Given the description of an element on the screen output the (x, y) to click on. 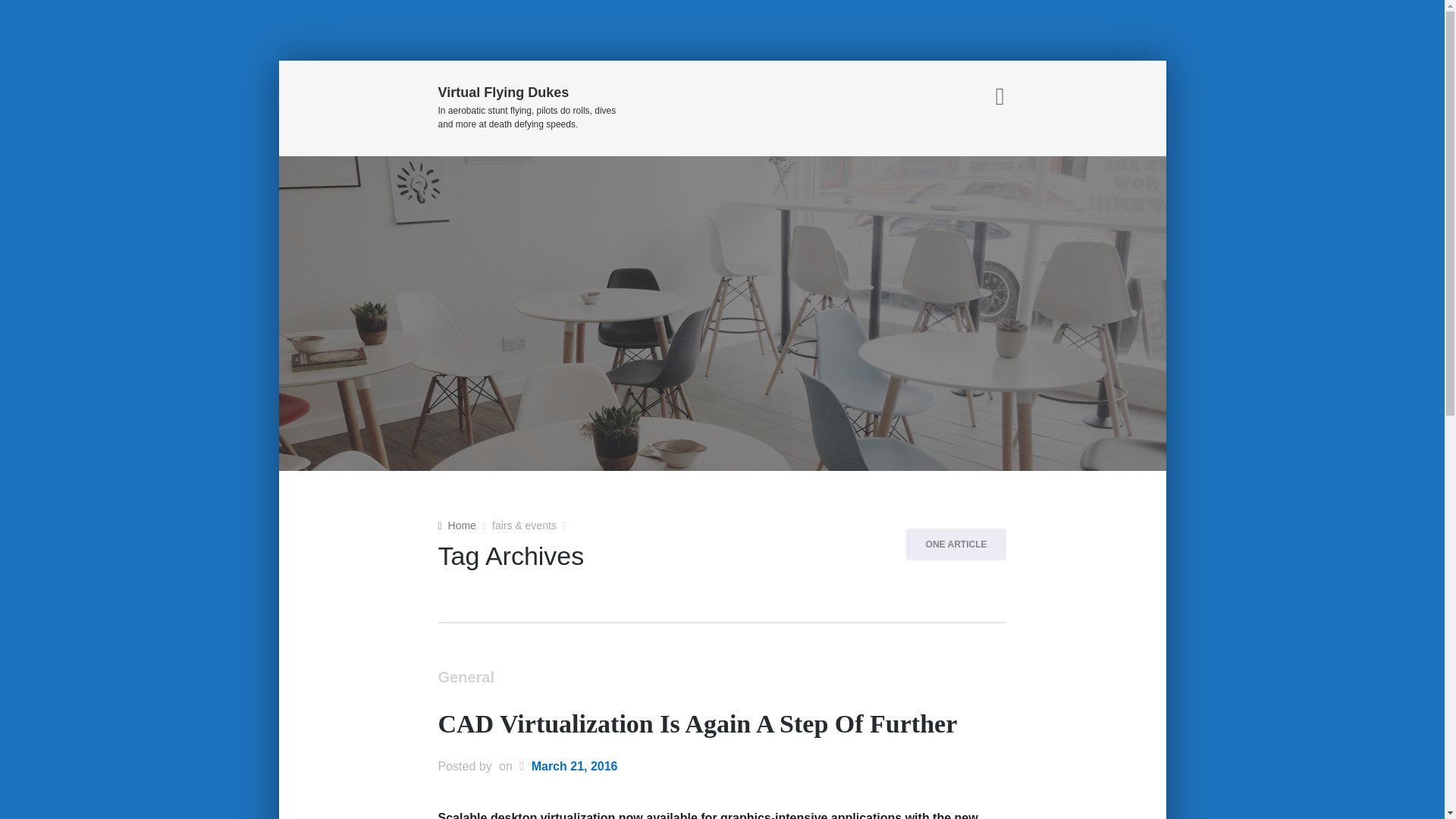
Home (457, 525)
Virtual Flying Dukes (526, 93)
CAD Virtualization Is Again A Step Of Further (698, 724)
See articles from category - General (466, 678)
March 21, 2016 (574, 767)
CAD Virtualization Is Again A Step Of Further (698, 724)
General (466, 678)
